Given the description of an element on the screen output the (x, y) to click on. 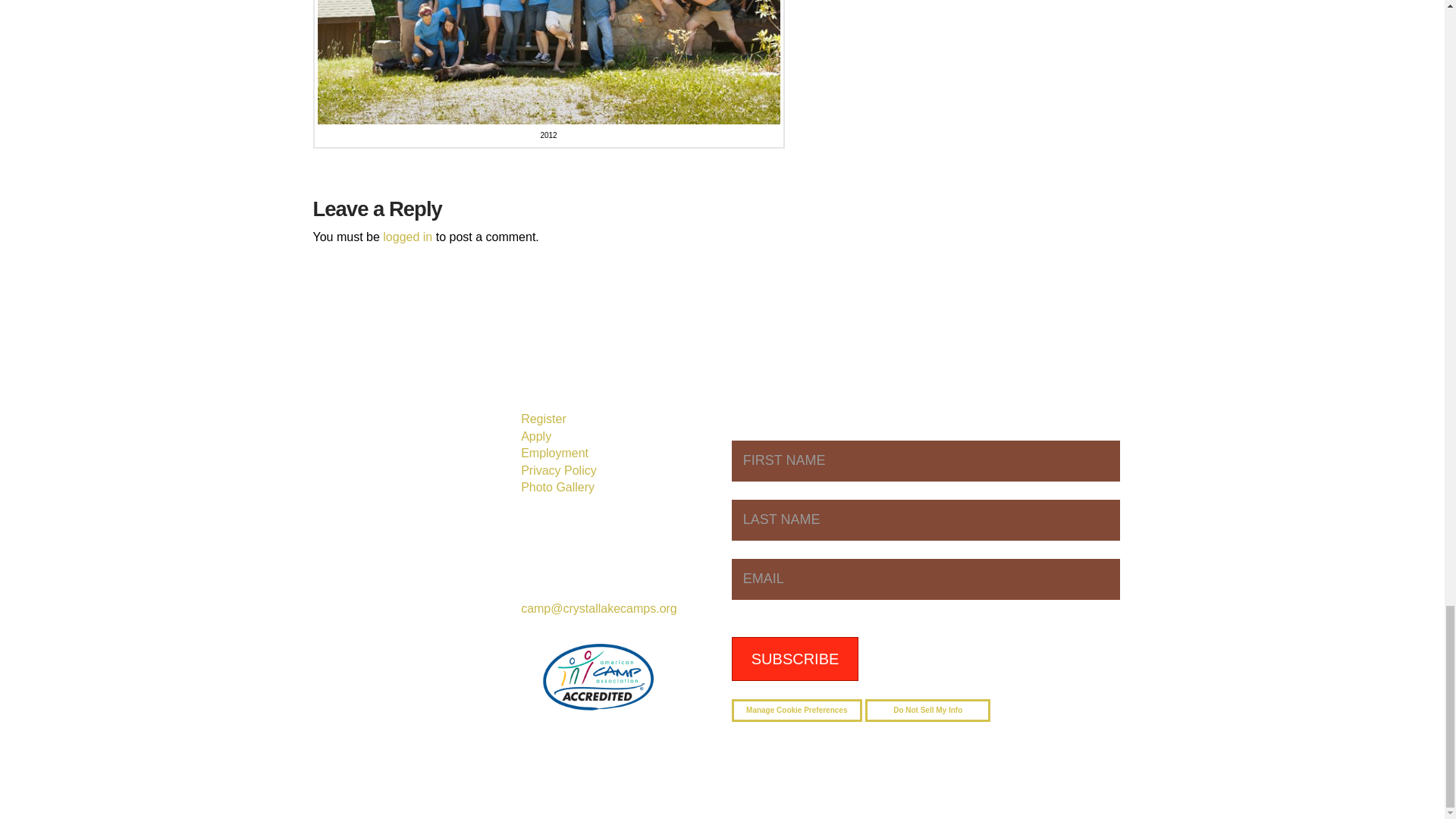
Subscribe (795, 658)
